Given the description of an element on the screen output the (x, y) to click on. 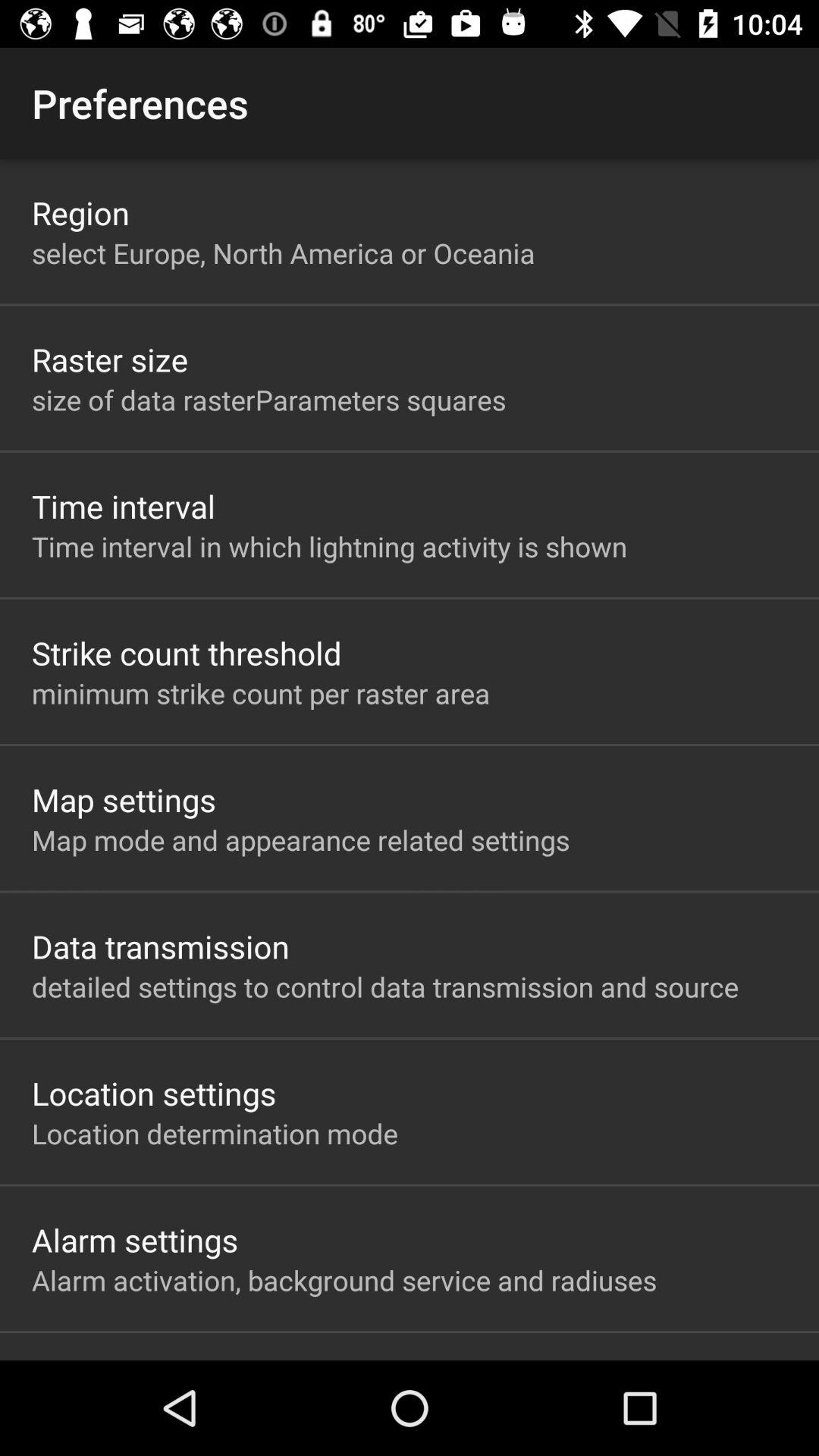
turn off the item below location determination mode app (134, 1239)
